Given the description of an element on the screen output the (x, y) to click on. 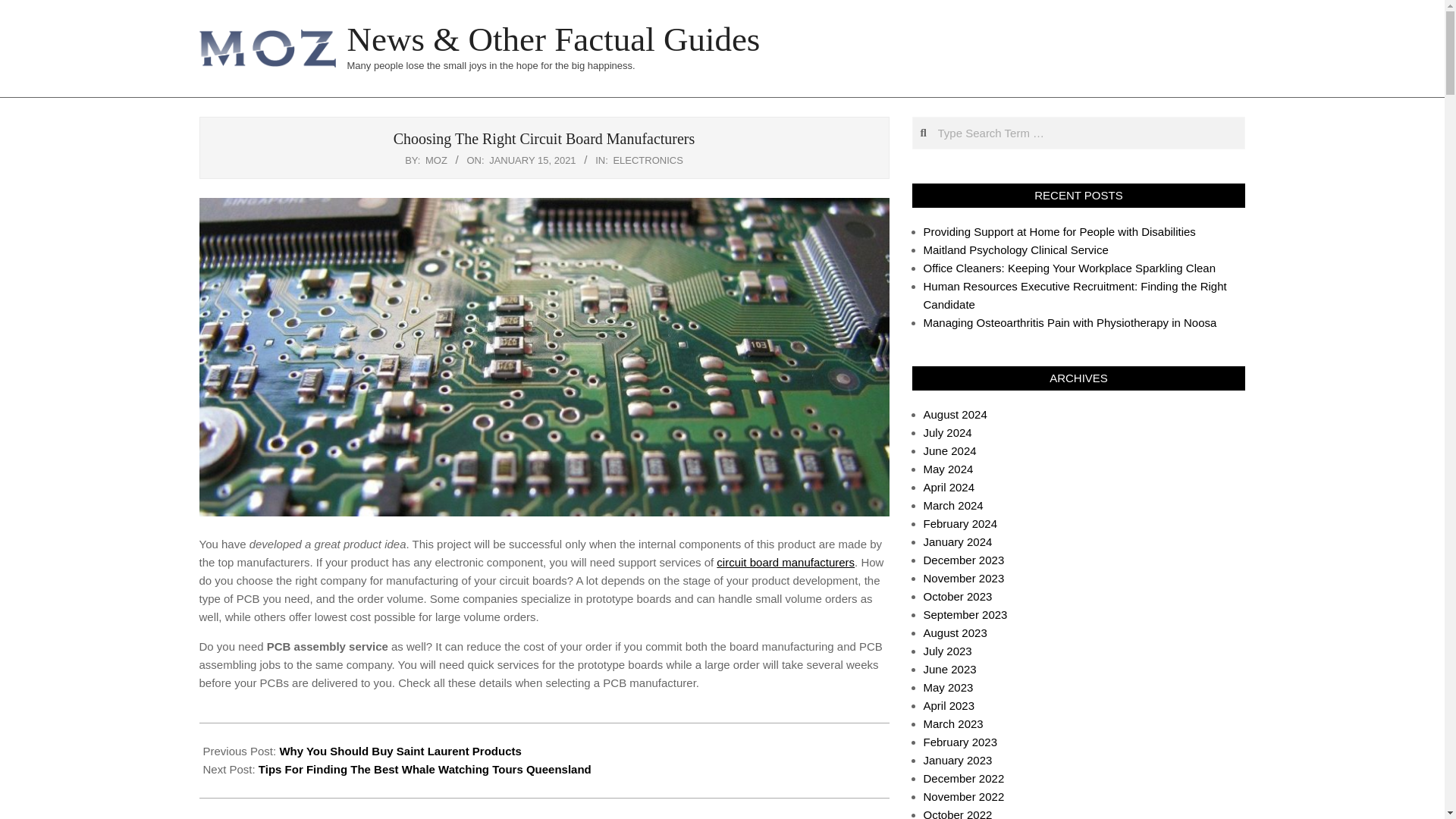
August 2023 (955, 632)
Providing Support at Home for People with Disabilities (1059, 231)
February 2024 (960, 522)
circuit board manufacturers (785, 562)
Office Cleaners: Keeping Your Workplace Sparkling Clean (1069, 267)
MOZ (435, 160)
July 2024 (947, 431)
December 2023 (963, 559)
April 2023 (949, 705)
November 2023 (963, 577)
